Given the description of an element on the screen output the (x, y) to click on. 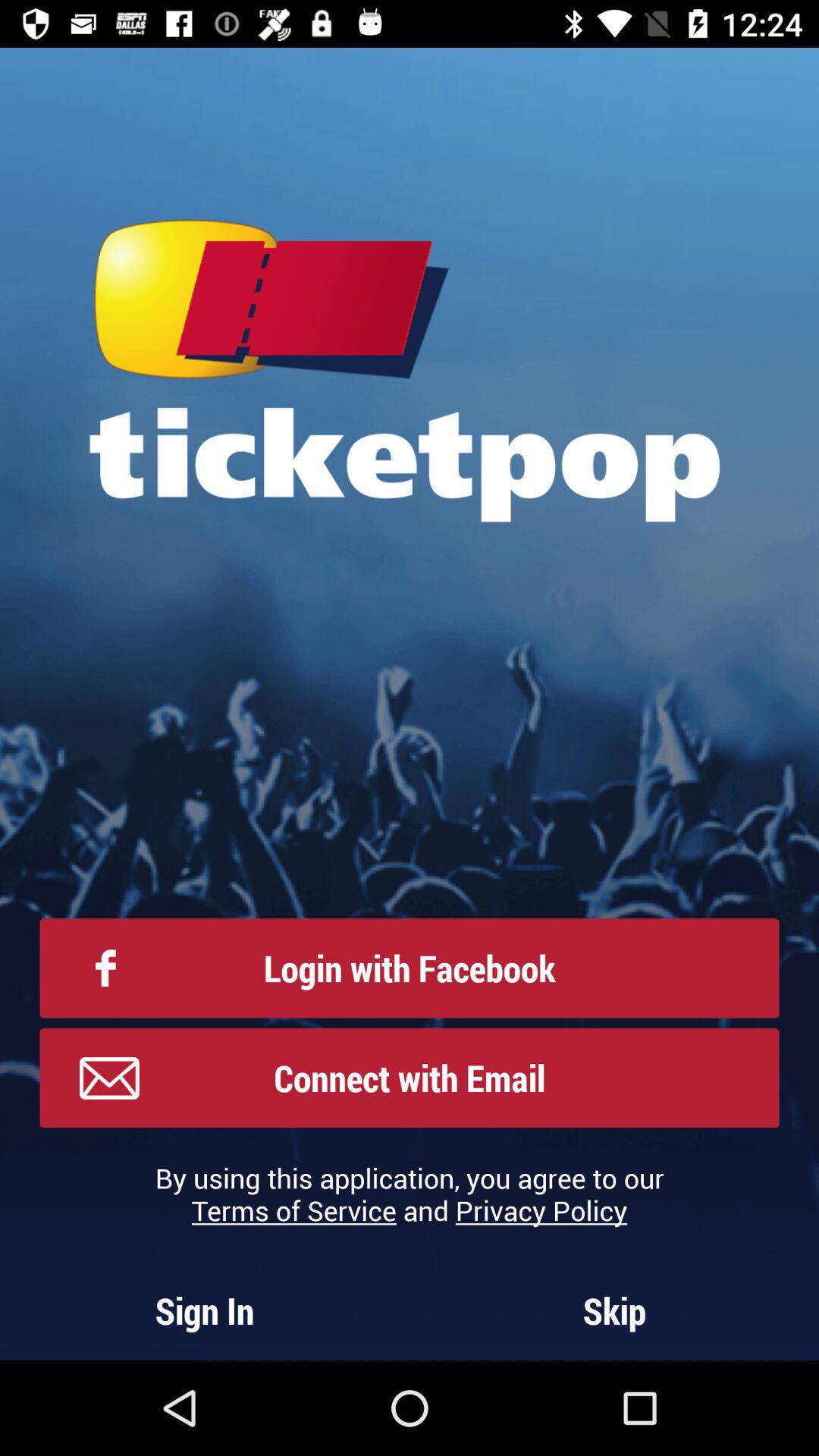
launch icon above sign in item (409, 1194)
